Given the description of an element on the screen output the (x, y) to click on. 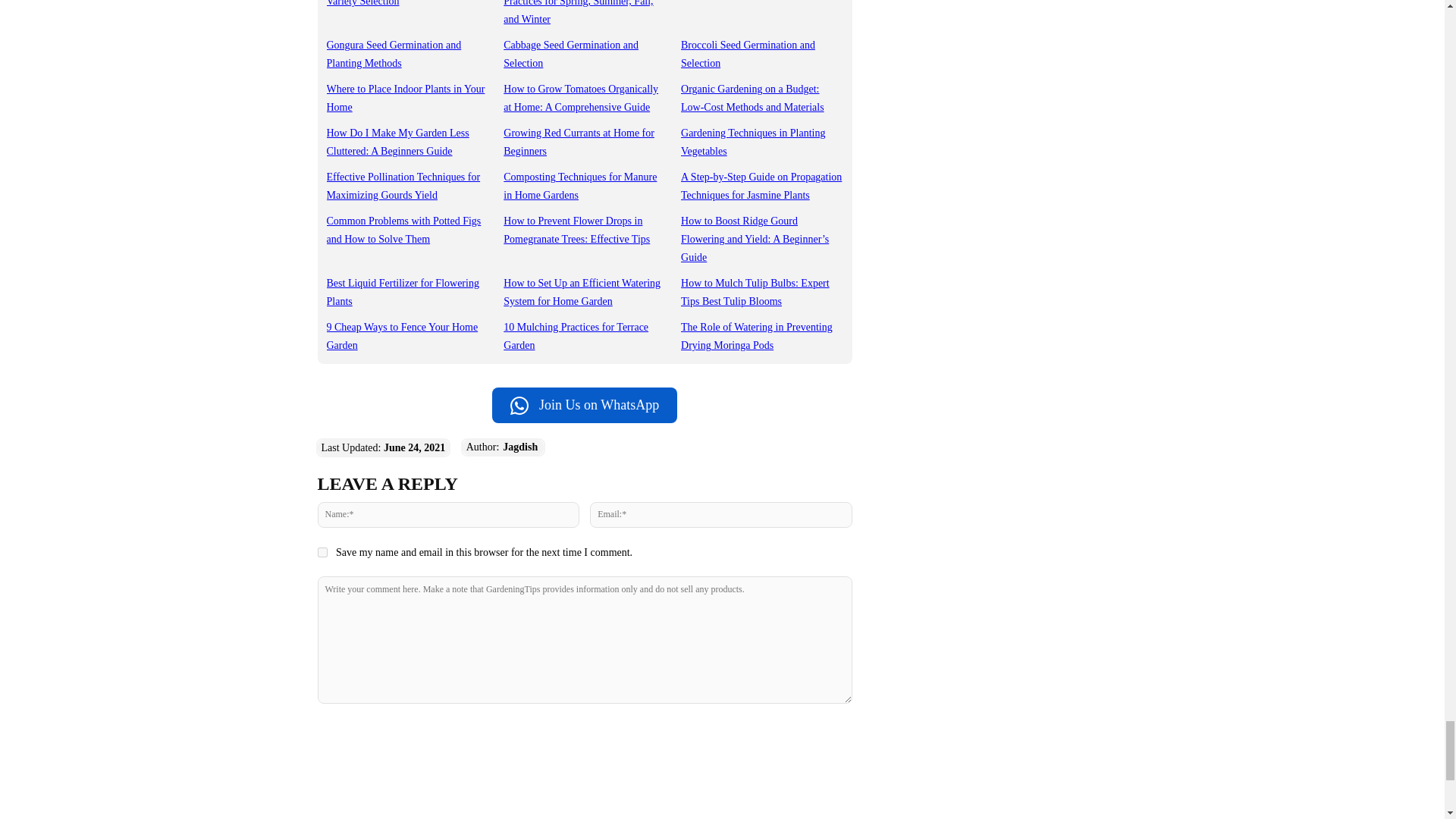
yes (321, 552)
Post Comment (584, 733)
Join Us on WhatsApp (584, 404)
